Given the description of an element on the screen output the (x, y) to click on. 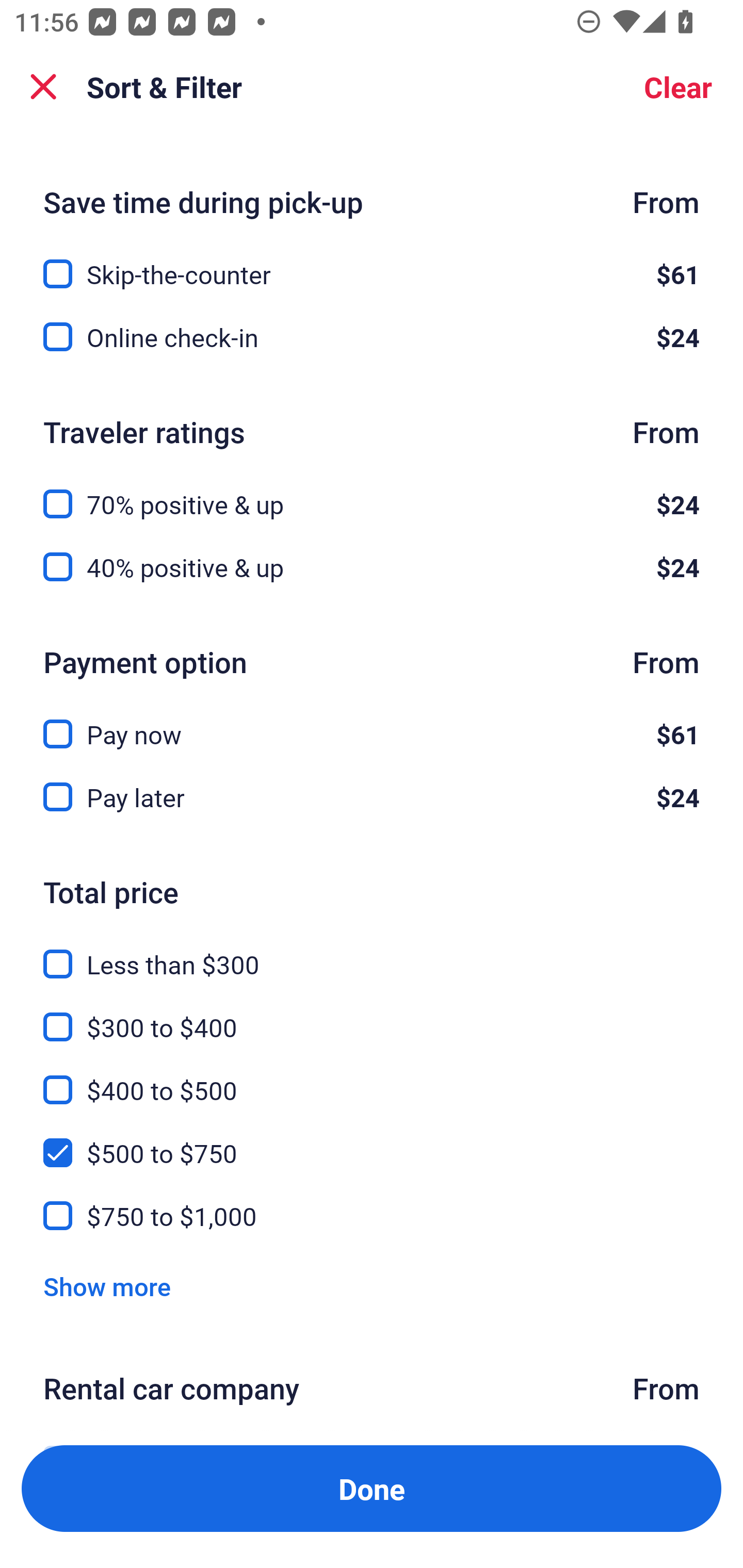
Close Sort and Filter (43, 86)
Clear (677, 86)
Skip-the-counter, $61 Skip-the-counter $61 (371, 262)
Online check-in, $24 Online check-in $24 (371, 337)
70% positive & up, $24 70% positive & up $24 (371, 491)
40% positive & up, $24 40% positive & up $24 (371, 566)
Pay now, $61 Pay now $61 (371, 722)
Pay later, $24 Pay later $24 (371, 797)
Less than $300, Less than $300 (371, 952)
$300 to $400, $300 to $400 (371, 1015)
$400 to $500, $400 to $500 (371, 1078)
$500 to $750, $500 to $750 (371, 1141)
$750 to $1,000, $750 to $1,000 (371, 1215)
Show more Show more Link (106, 1286)
Apply and close Sort and Filter Done (371, 1488)
